Given the description of an element on the screen output the (x, y) to click on. 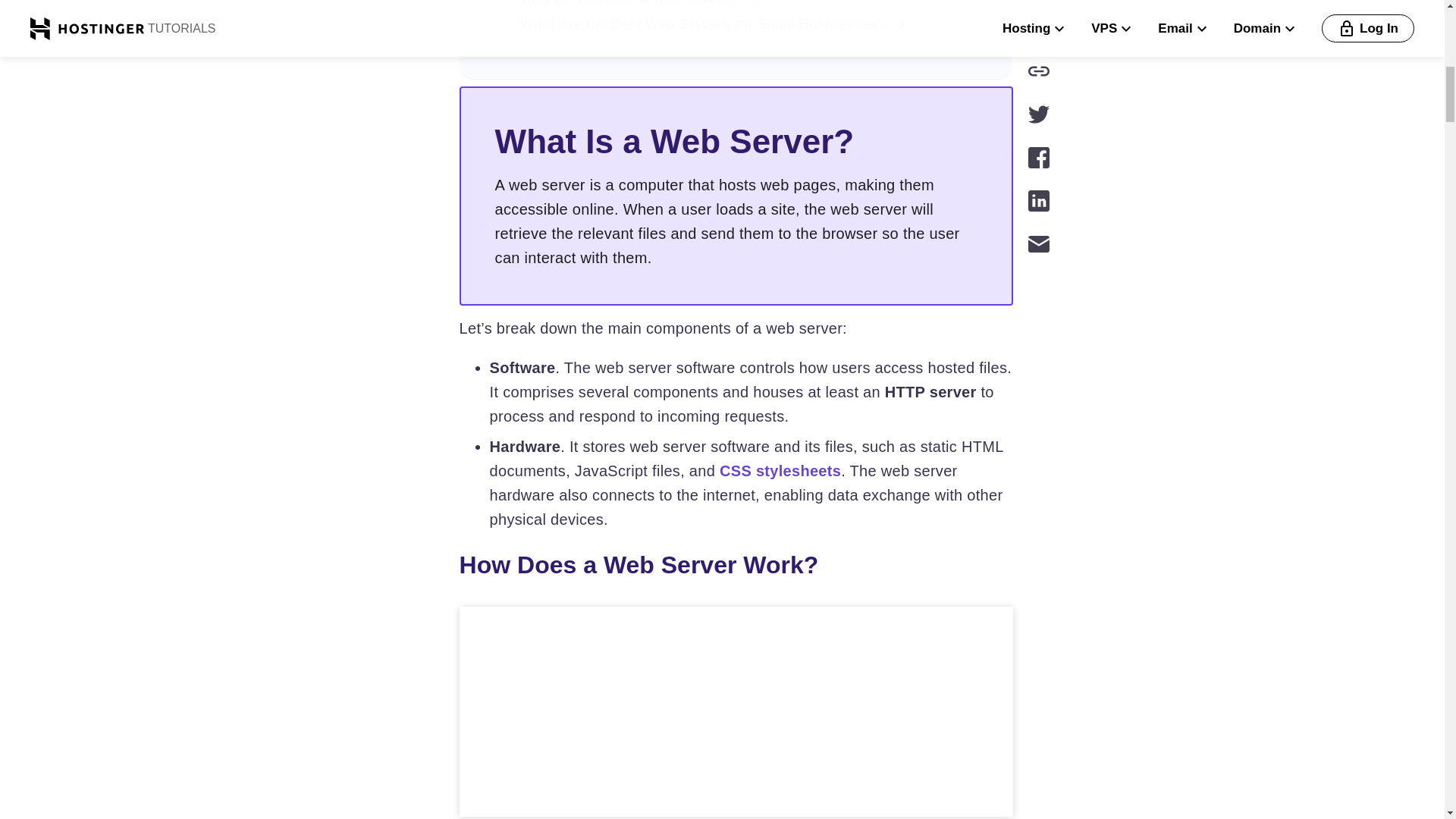
How Do I Choose a Web Server? (747, 3)
What Are the Best Web Servers for Small Businesses? (747, 24)
How Do I Choose a Web Server? (747, 3)
What Are the Best Web Servers for Small Businesses? (747, 24)
CSS stylesheets (780, 470)
